Given the description of an element on the screen output the (x, y) to click on. 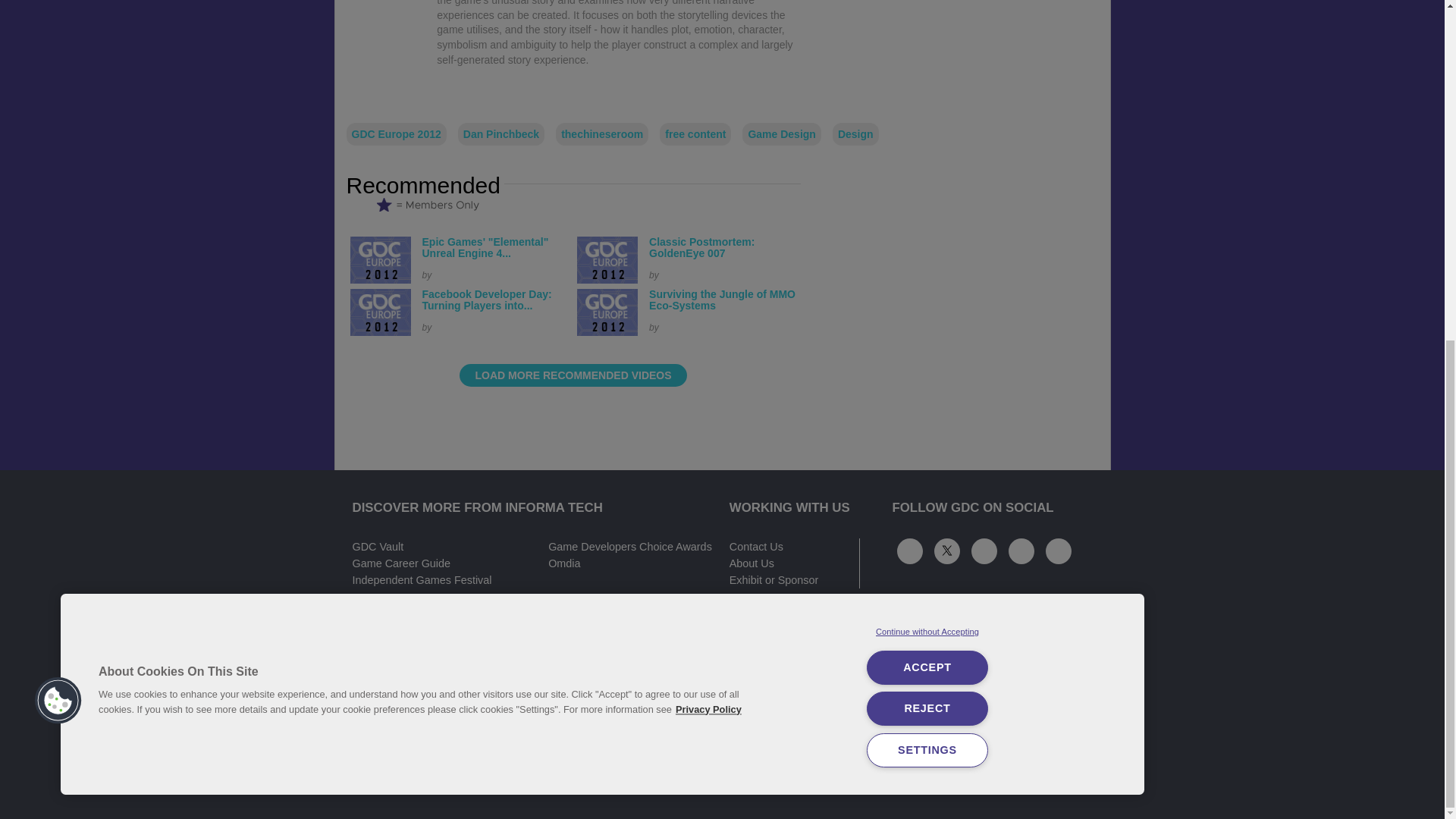
Epic Games' "Elemental" Unreal Engine 4... (485, 247)
Facebook Developer Day: Turning Players into... (486, 300)
Classic Postmortem: GoldenEye 007 (701, 247)
3rd party ad content (965, 49)
Cookies Button (57, 123)
Surviving the Jungle of MMO Eco-Systems (721, 300)
